Given the description of an element on the screen output the (x, y) to click on. 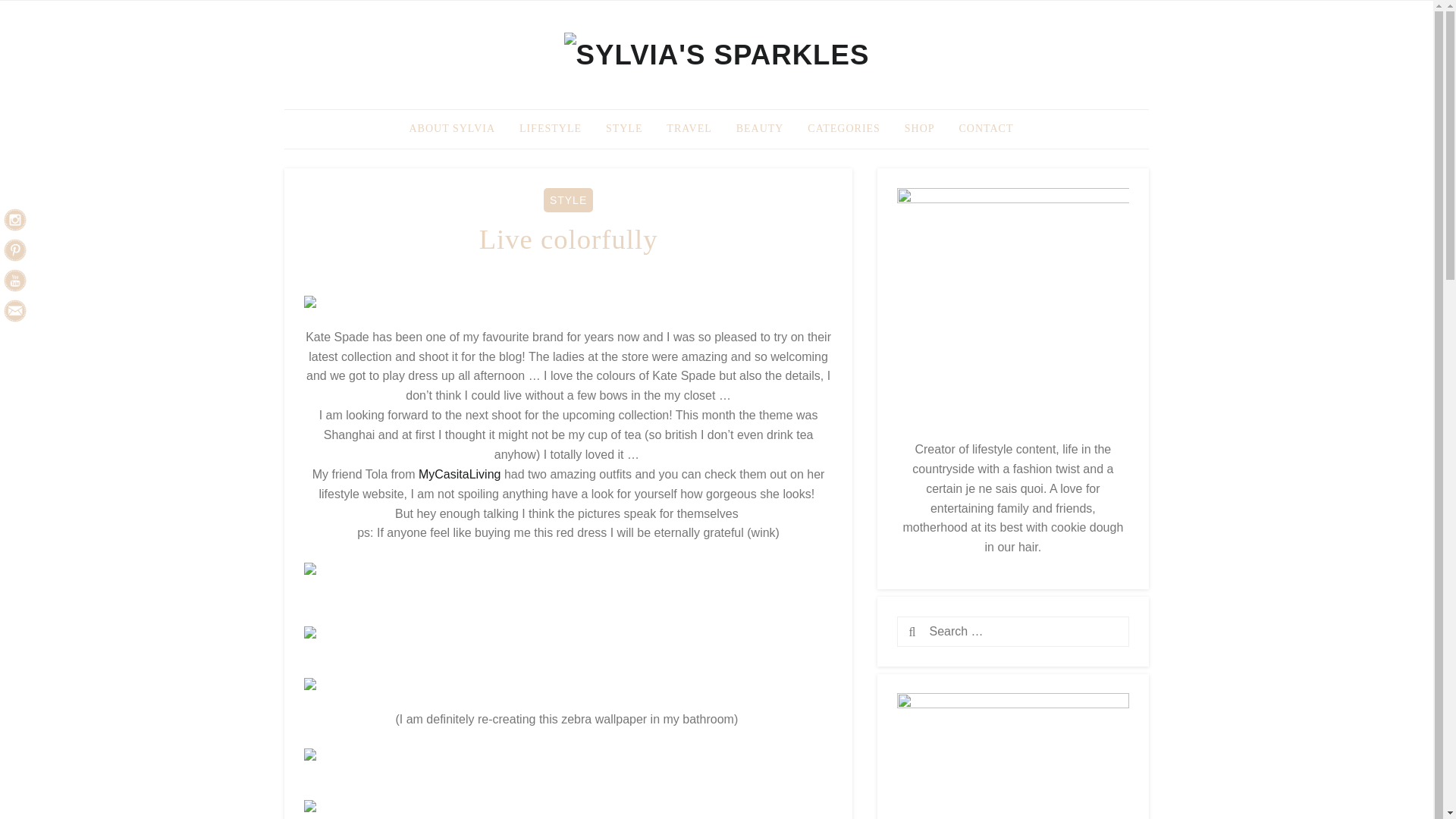
STYLE (567, 200)
SHOP (918, 128)
Click here for my YouTube Channel (15, 280)
LIFESTYLE (550, 128)
Click here for my Instagram (15, 219)
TRAVEL (689, 128)
MyCasitaLiving (459, 473)
Click to Email Me (15, 310)
ABOUT SYLVIA (452, 128)
Search (938, 631)
